Given the description of an element on the screen output the (x, y) to click on. 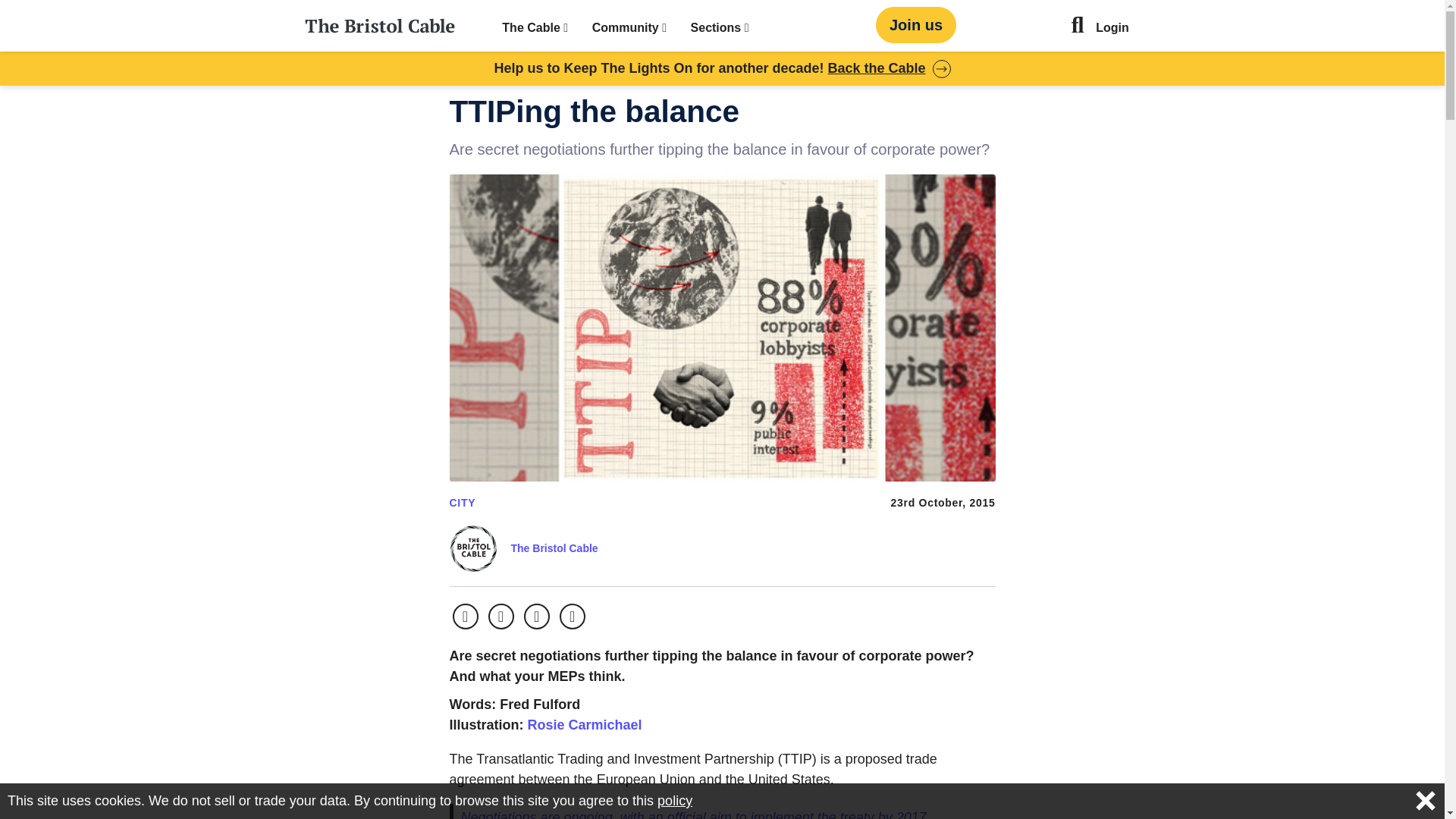
Opens in a new tab (500, 616)
The Bristol Cable (554, 548)
Opens in a new tab (693, 814)
The Bristol Cable (554, 548)
Login (1112, 29)
CITY (462, 502)
Opens in a new tab (584, 724)
Join us (916, 24)
Opens in a new tab (464, 616)
Opens in a new tab (537, 616)
Rosie Carmichael (584, 724)
